Given the description of an element on the screen output the (x, y) to click on. 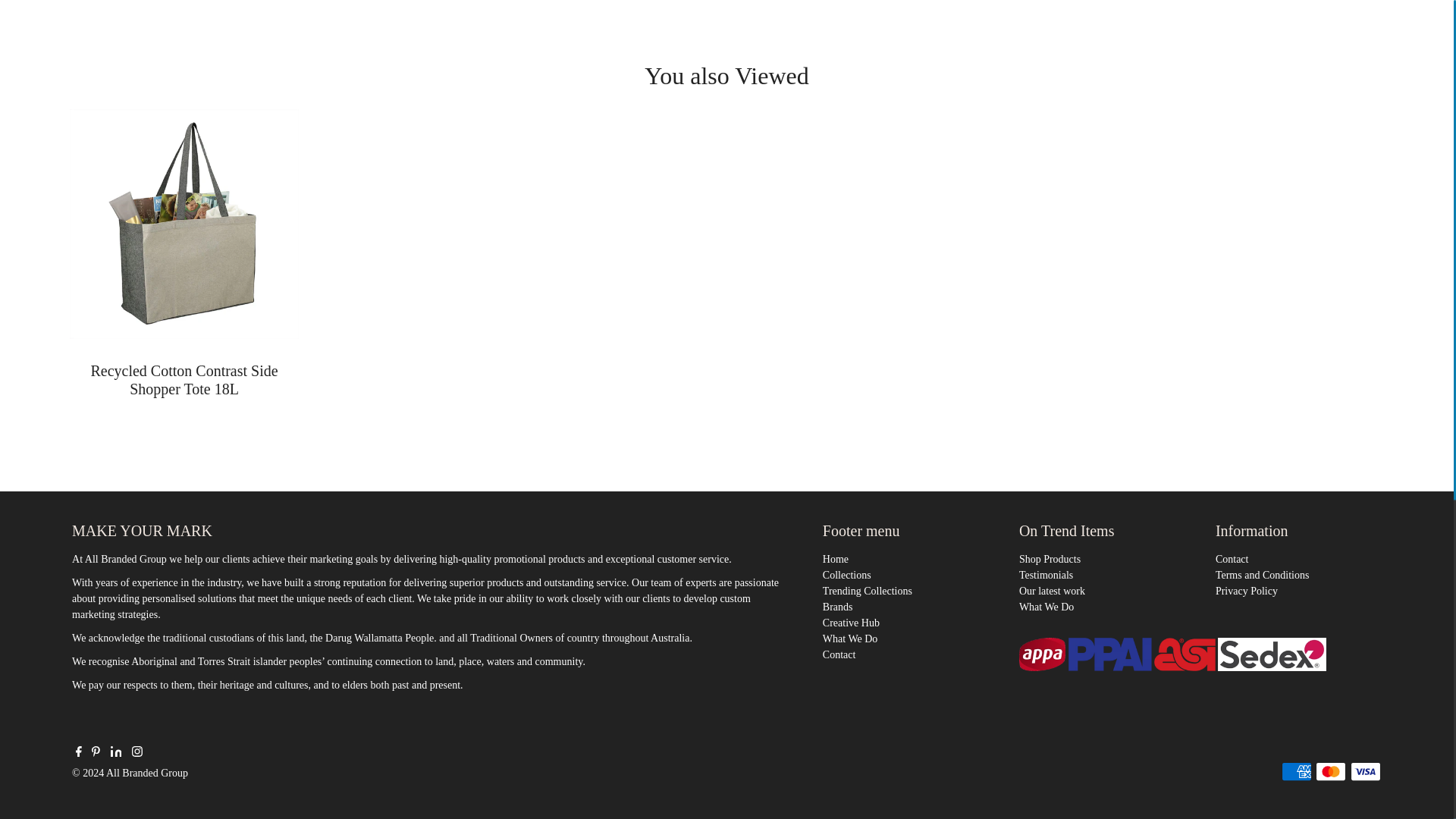
Recycled Cotton Contrast Side Shopper Tote 18L (184, 223)
American Express (1296, 771)
Visa (1365, 771)
Mastercard (1330, 771)
